Given the description of an element on the screen output the (x, y) to click on. 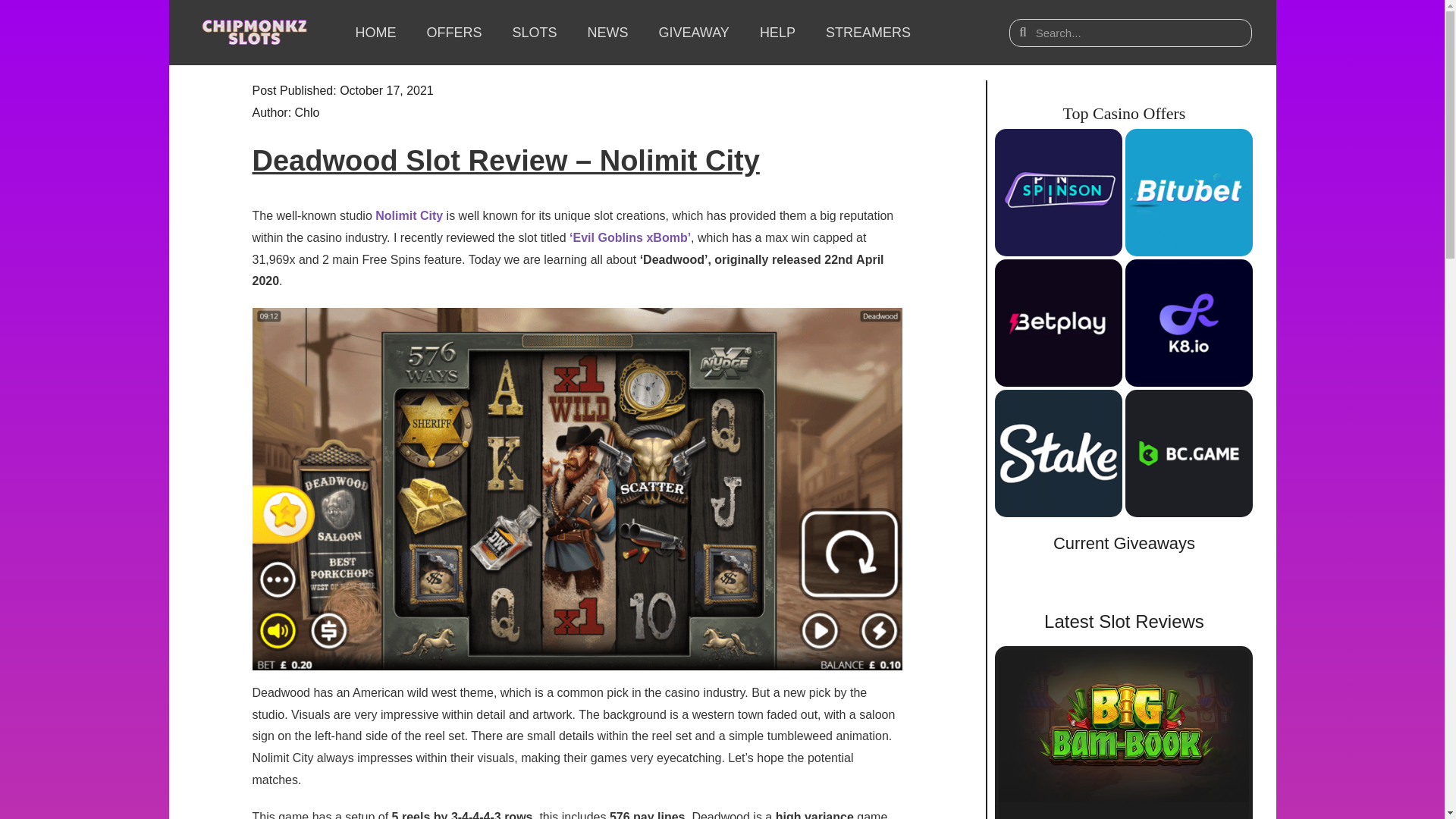
GIVEAWAY (693, 32)
HOME (374, 32)
SLOTS (534, 32)
OFFERS (453, 32)
STREAMERS (868, 32)
HELP (777, 32)
NEWS (607, 32)
